Given the description of an element on the screen output the (x, y) to click on. 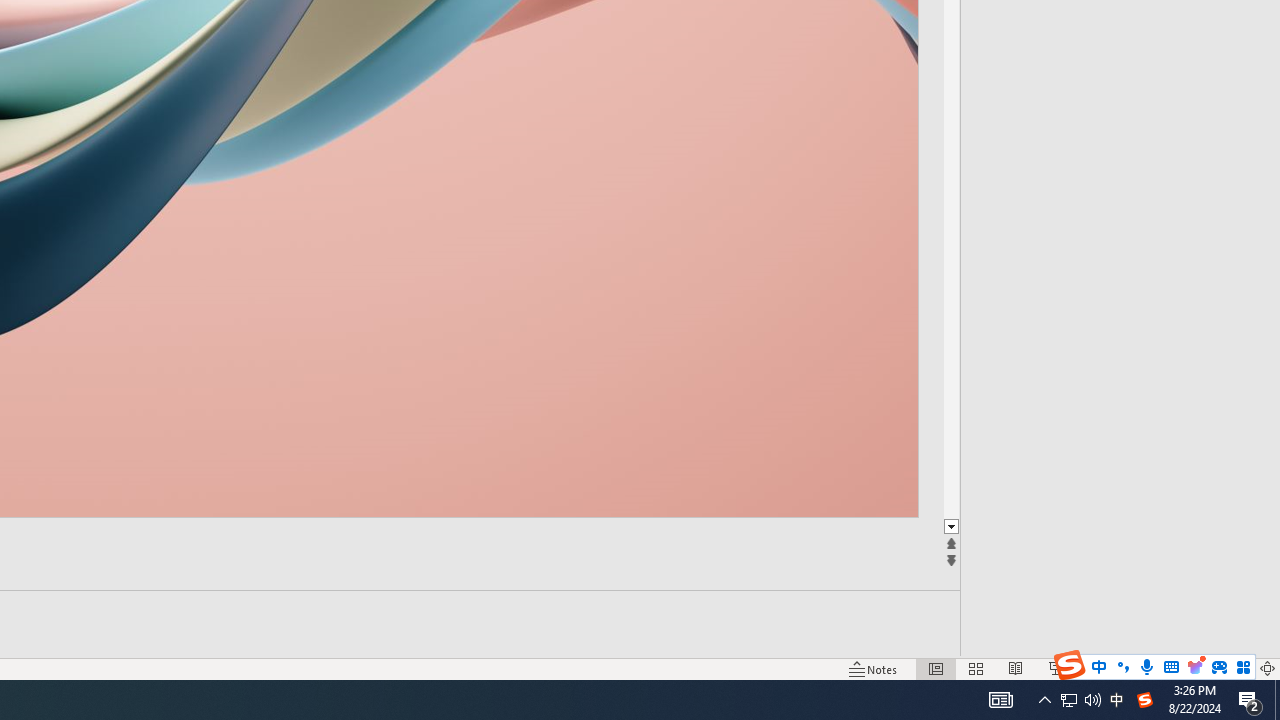
Zoom 140% (1234, 668)
